Given the description of an element on the screen output the (x, y) to click on. 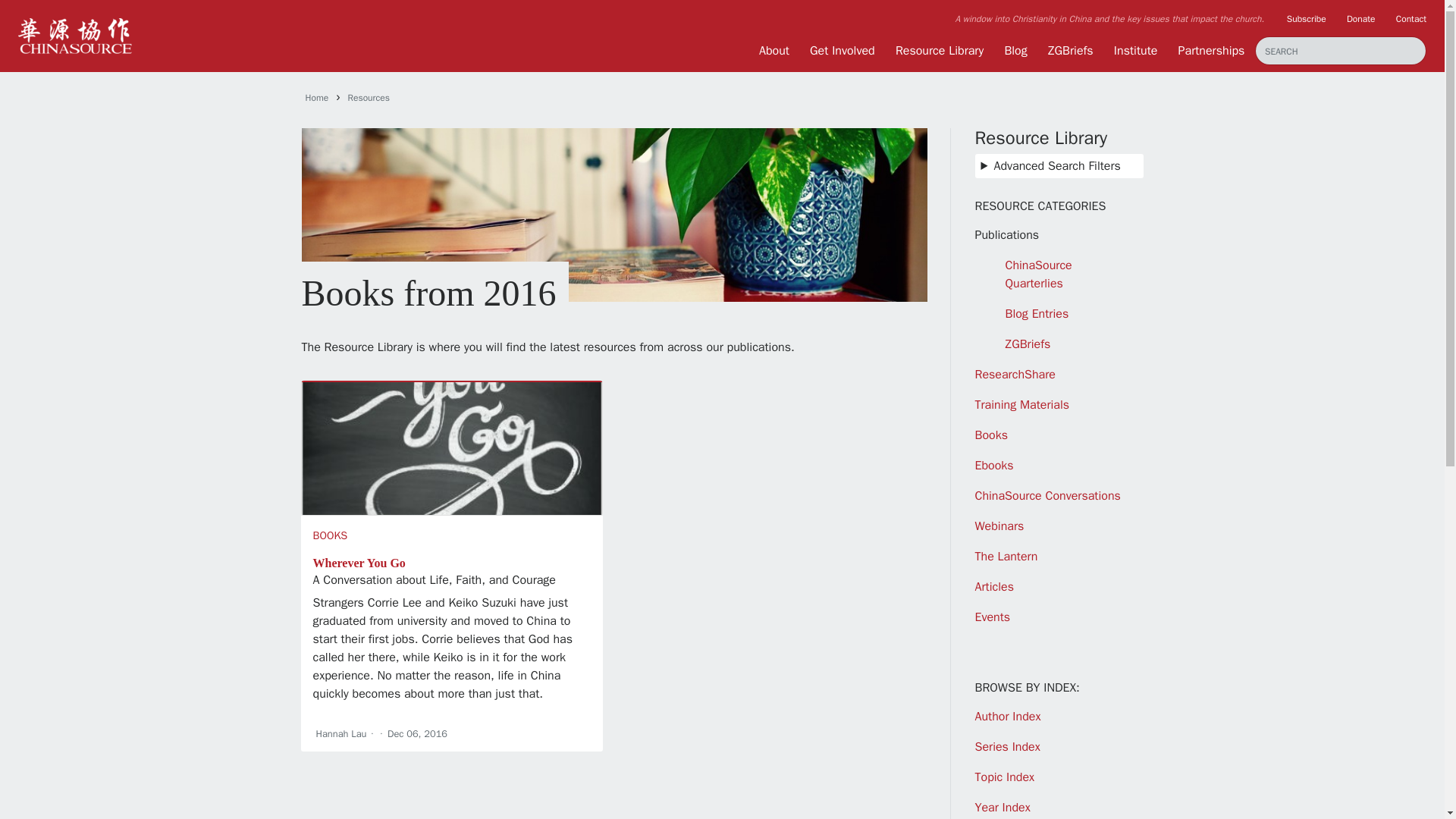
Articles (994, 586)
Books (991, 435)
ZGBriefs (1028, 344)
Home (316, 97)
BOOKS (330, 535)
Wherever You Go (358, 562)
Author Index (1008, 716)
Training Materials (1022, 404)
Get Involved (842, 50)
Donate (1360, 18)
Webinars (1000, 525)
Year Index (1002, 807)
Resource Library (939, 50)
Home (316, 97)
The Lantern (1006, 556)
